Given the description of an element on the screen output the (x, y) to click on. 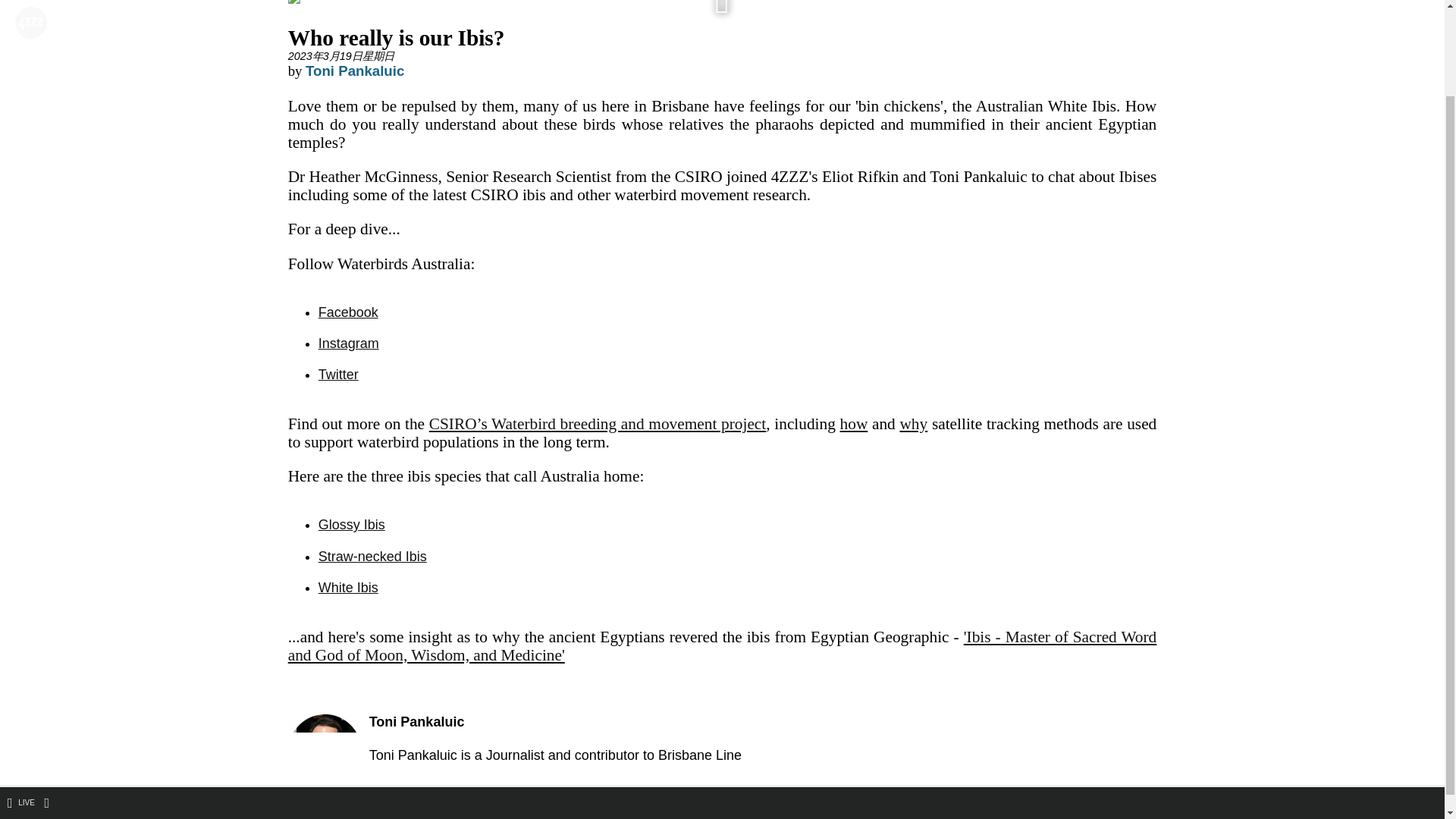
Glossy Ibis (351, 524)
why (913, 423)
Twitter (338, 374)
Facebook (348, 312)
how (853, 423)
Instagram (348, 343)
White Ibis (348, 587)
Straw-necked Ibis (372, 556)
